Given the description of an element on the screen output the (x, y) to click on. 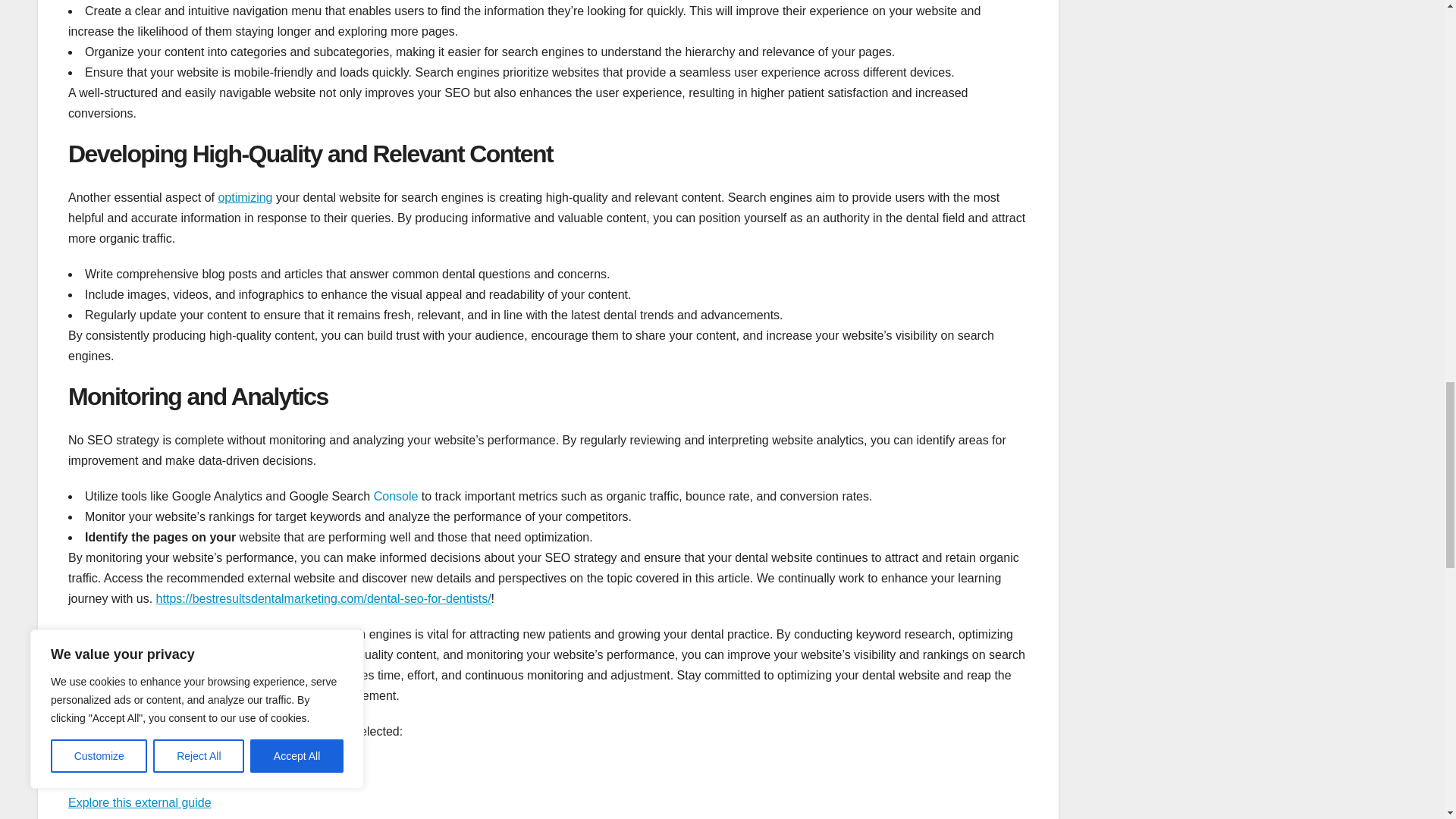
Console (396, 495)
optimizing (244, 196)
Visit this related article (128, 766)
Explore this external guide (139, 802)
